Given the description of an element on the screen output the (x, y) to click on. 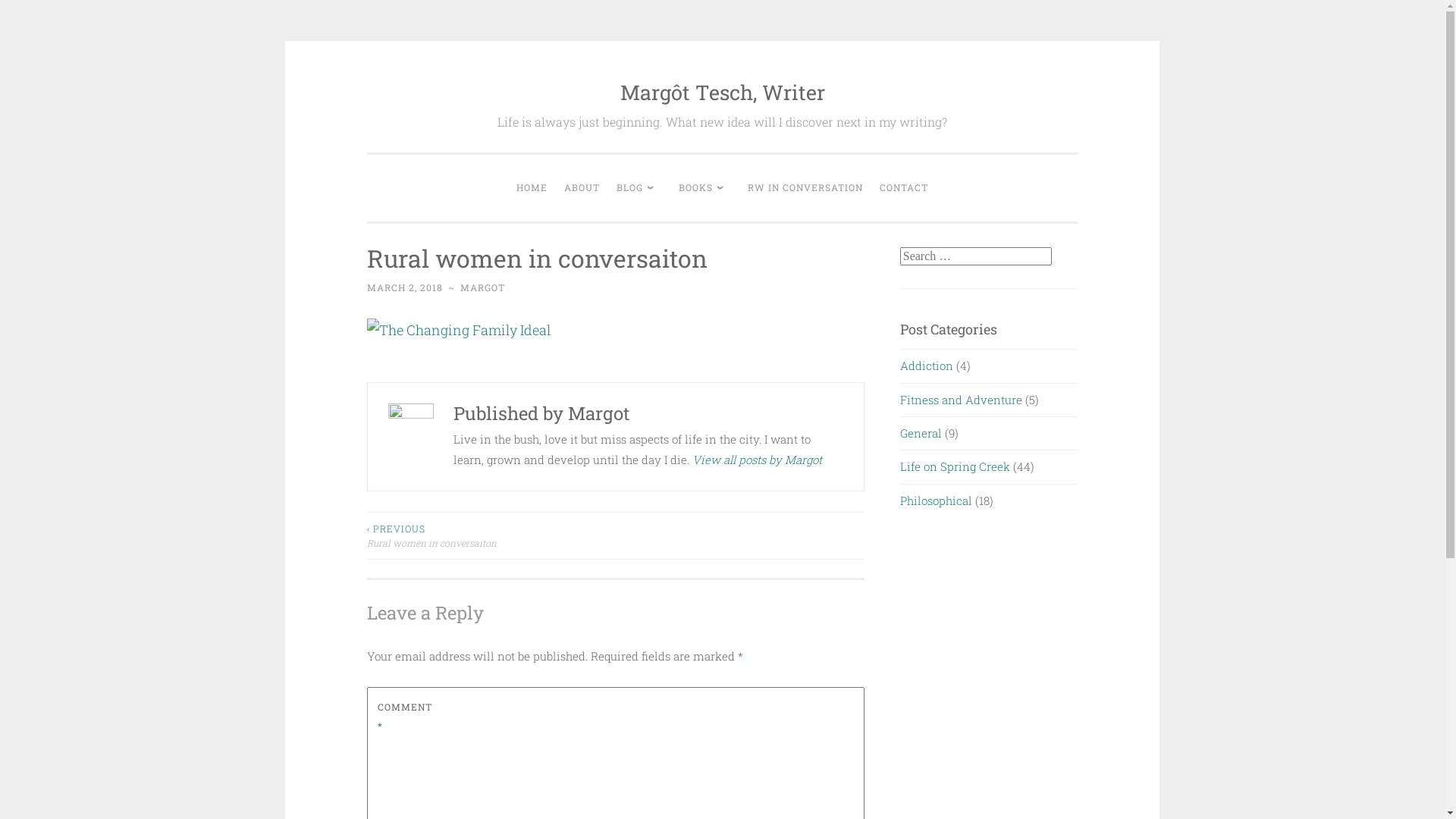
RW IN CONVERSATION Element type: text (804, 187)
Fitness and Adventure Element type: text (961, 399)
BOOKS Element type: text (704, 187)
General Element type: text (920, 432)
BLOG Element type: text (638, 187)
Philosophical Element type: text (936, 500)
Addiction Element type: text (926, 365)
MARCH 2, 2018 Element type: text (404, 287)
Search Element type: text (22, 9)
CONTACT Element type: text (903, 187)
Life on Spring Creek Element type: text (955, 465)
HOME Element type: text (531, 187)
MARGOT Element type: text (482, 287)
ABOUT Element type: text (581, 187)
View all posts by Margot Element type: text (757, 459)
